Given the description of an element on the screen output the (x, y) to click on. 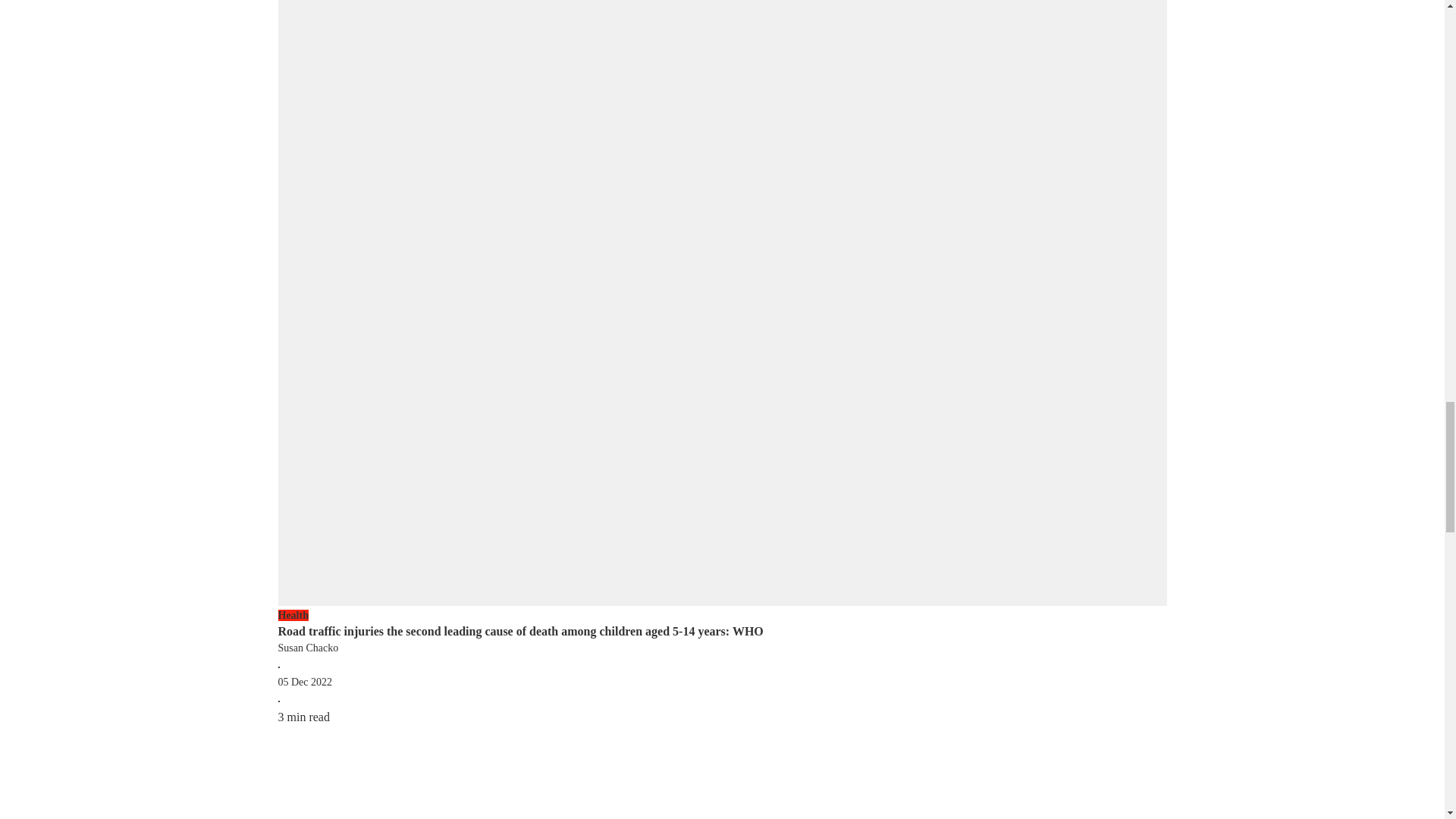
Susan Chacko (722, 647)
Health (722, 616)
2022-12-05 04:12 (304, 681)
